Given the description of an element on the screen output the (x, y) to click on. 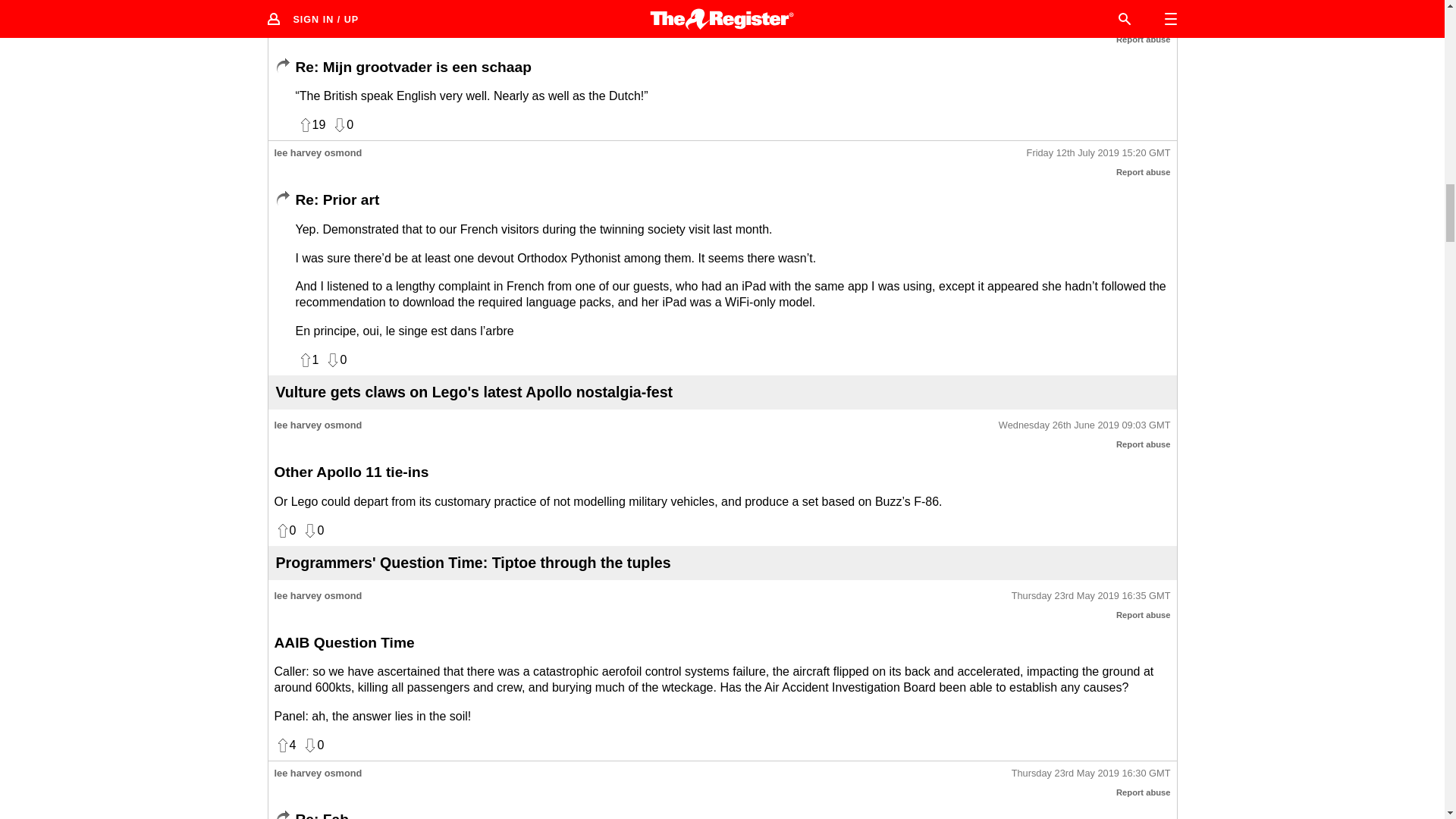
Report abuse (1143, 791)
Report abuse (1143, 443)
Report abuse (1143, 171)
Report abuse (1143, 39)
Report abuse (1143, 614)
